Given the description of an element on the screen output the (x, y) to click on. 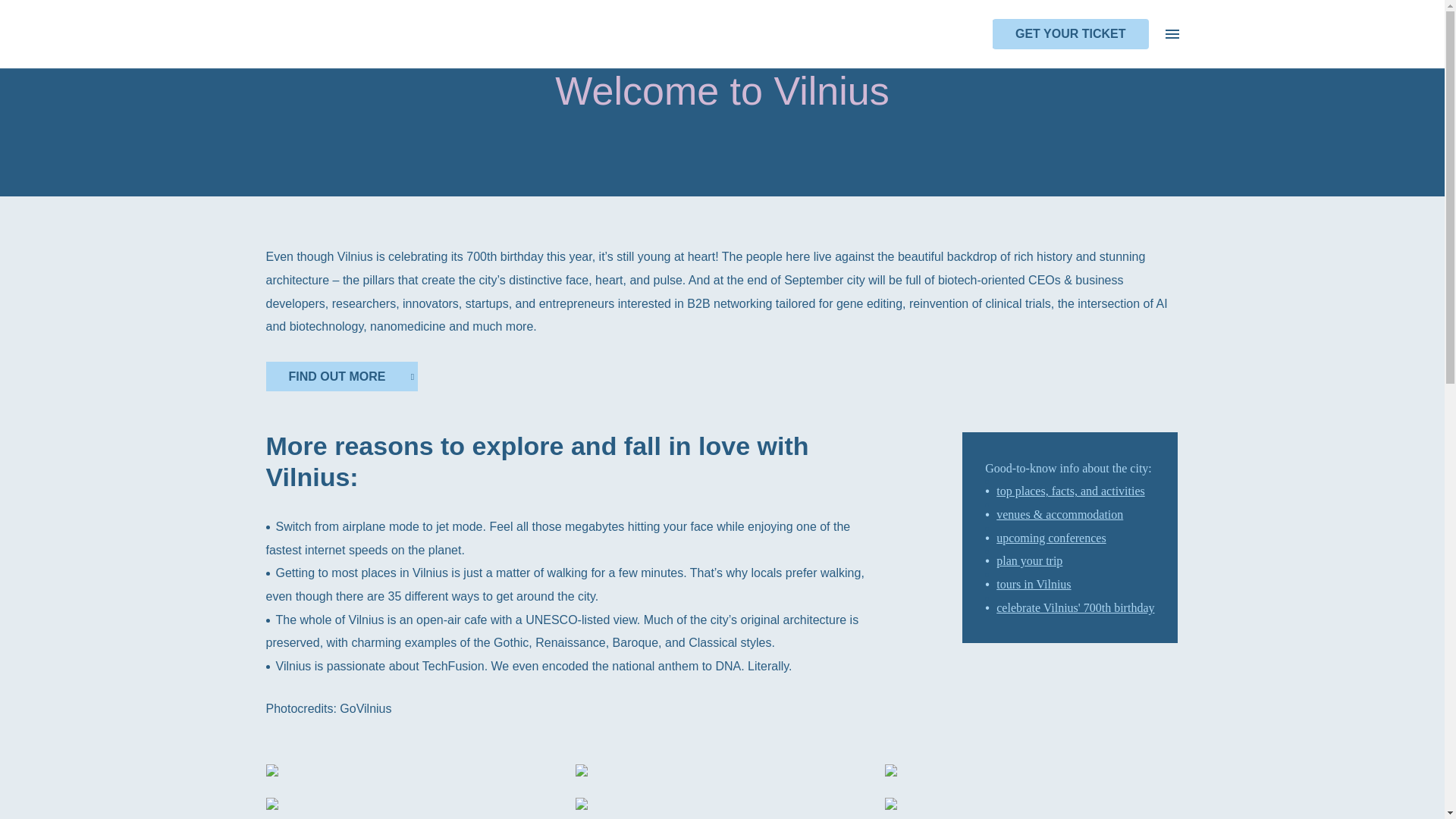
top places, facts, and activities (1069, 490)
upcoming conferences (1050, 537)
tours in Vilnius (1032, 584)
Contributors to LSB (402, 7)
plan your trip (1028, 560)
FIND OUT MORE (340, 376)
celebrate Vilnius' 700th birthday (1074, 607)
GET YOUR TICKET (1070, 33)
